Given the description of an element on the screen output the (x, y) to click on. 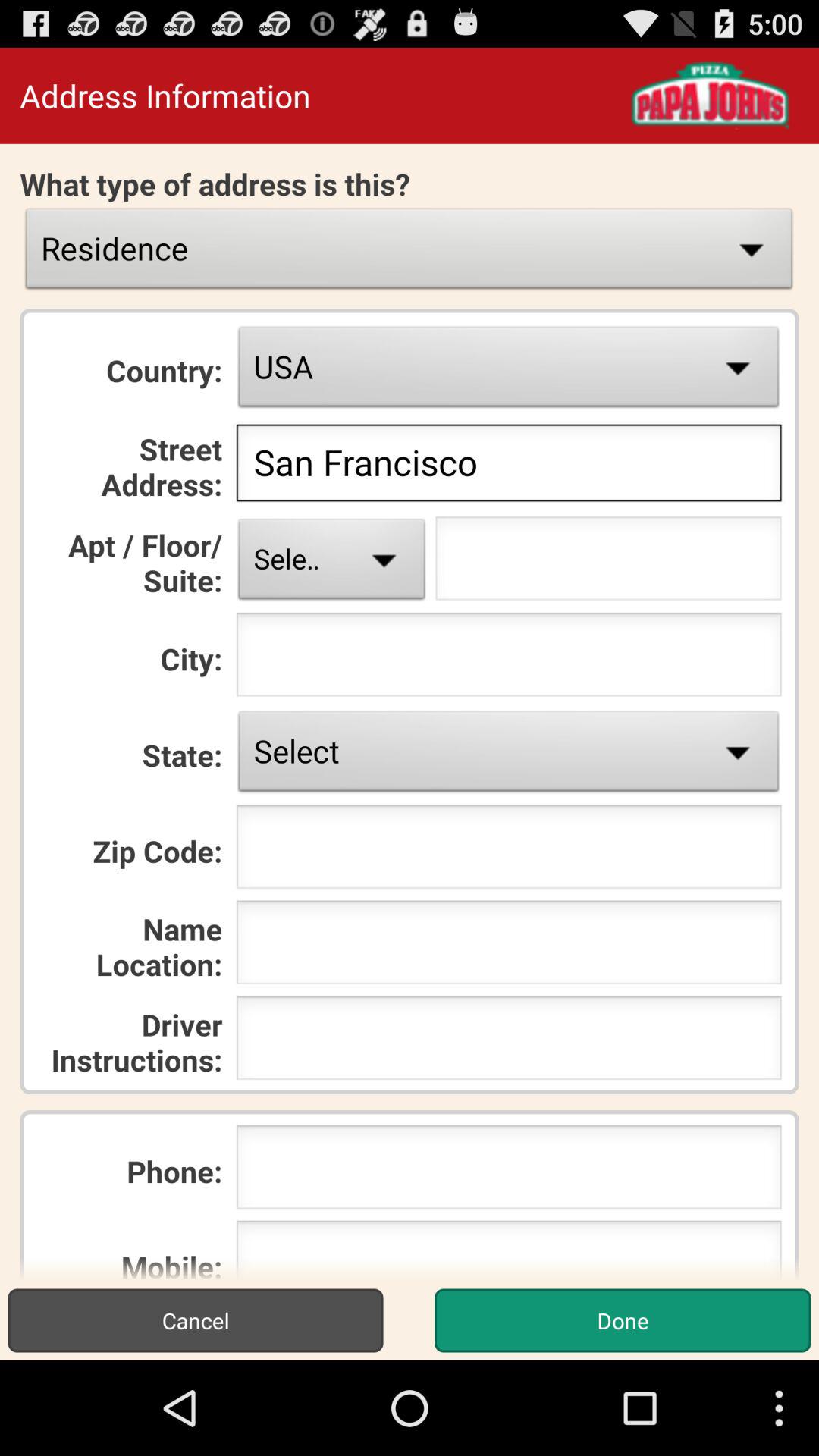
ask mobile number (508, 1249)
